Given the description of an element on the screen output the (x, y) to click on. 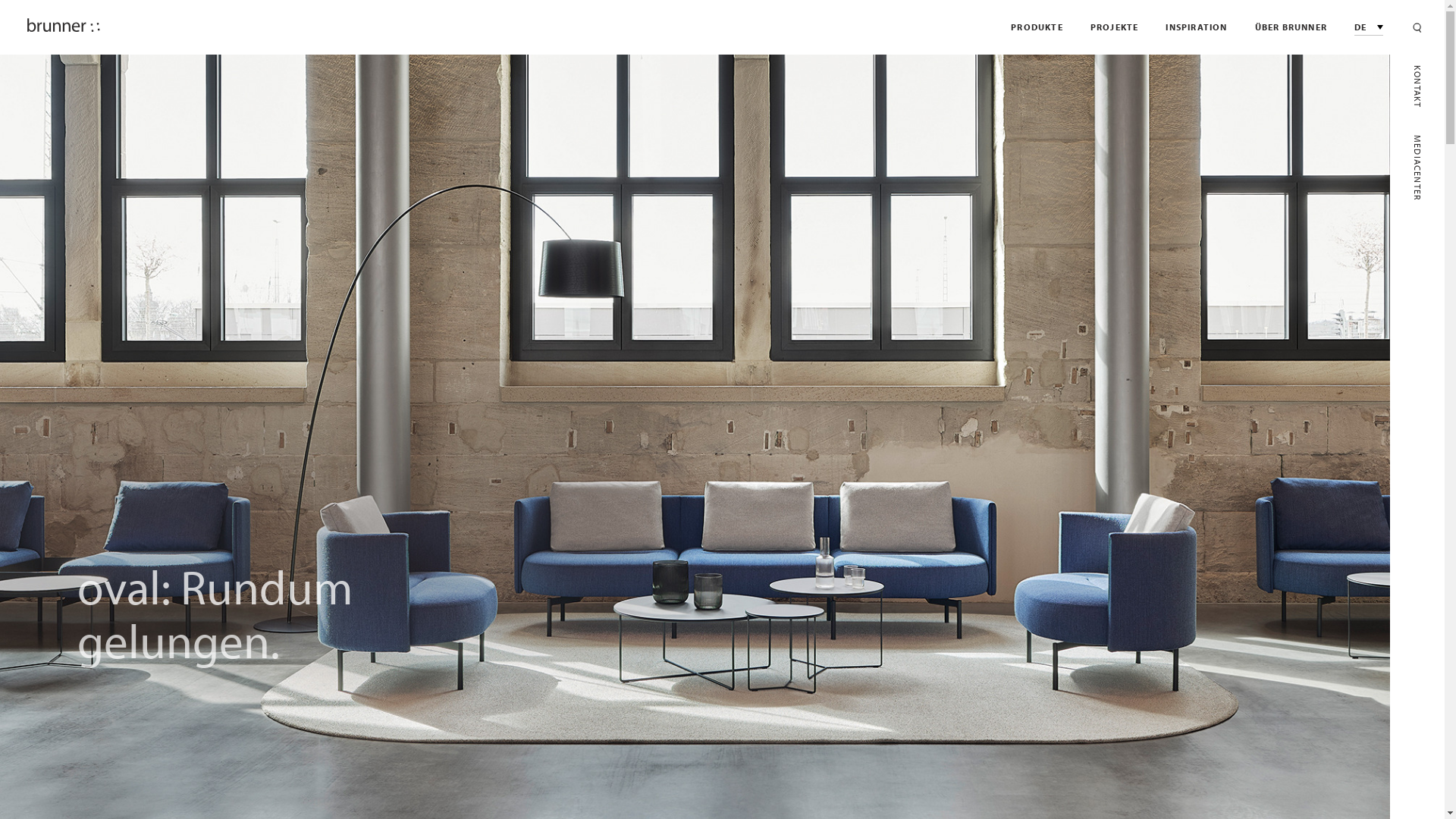
PRODUKTE Element type: text (1036, 27)
MEDIACENTER Element type: text (1417, 167)
PROJEKTE Element type: text (1114, 27)
INSPIRATION Element type: text (1195, 27)
KONTAKT Element type: text (1417, 86)
